Given the description of an element on the screen output the (x, y) to click on. 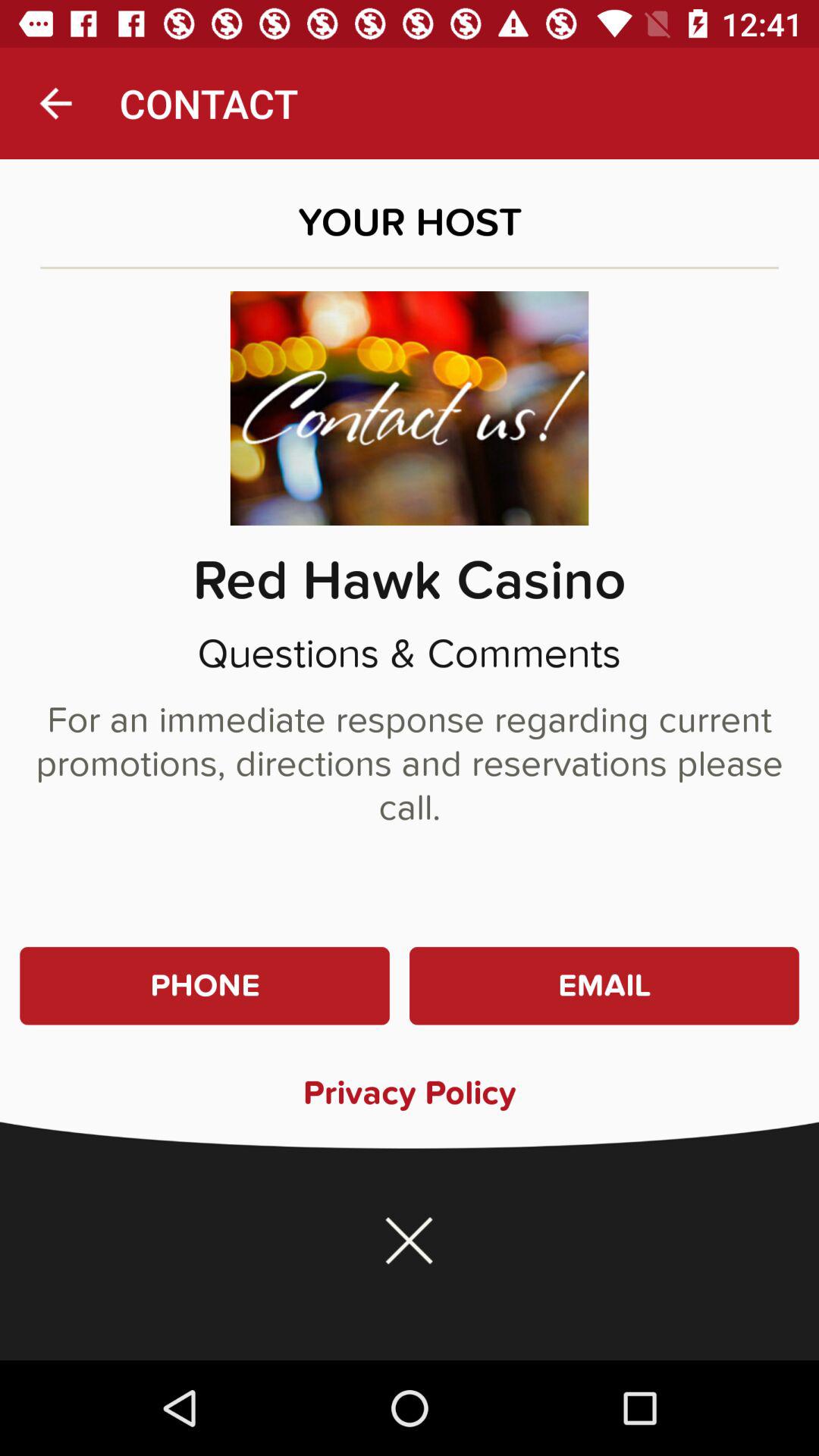
turn off privacy policy icon (409, 1092)
